Given the description of an element on the screen output the (x, y) to click on. 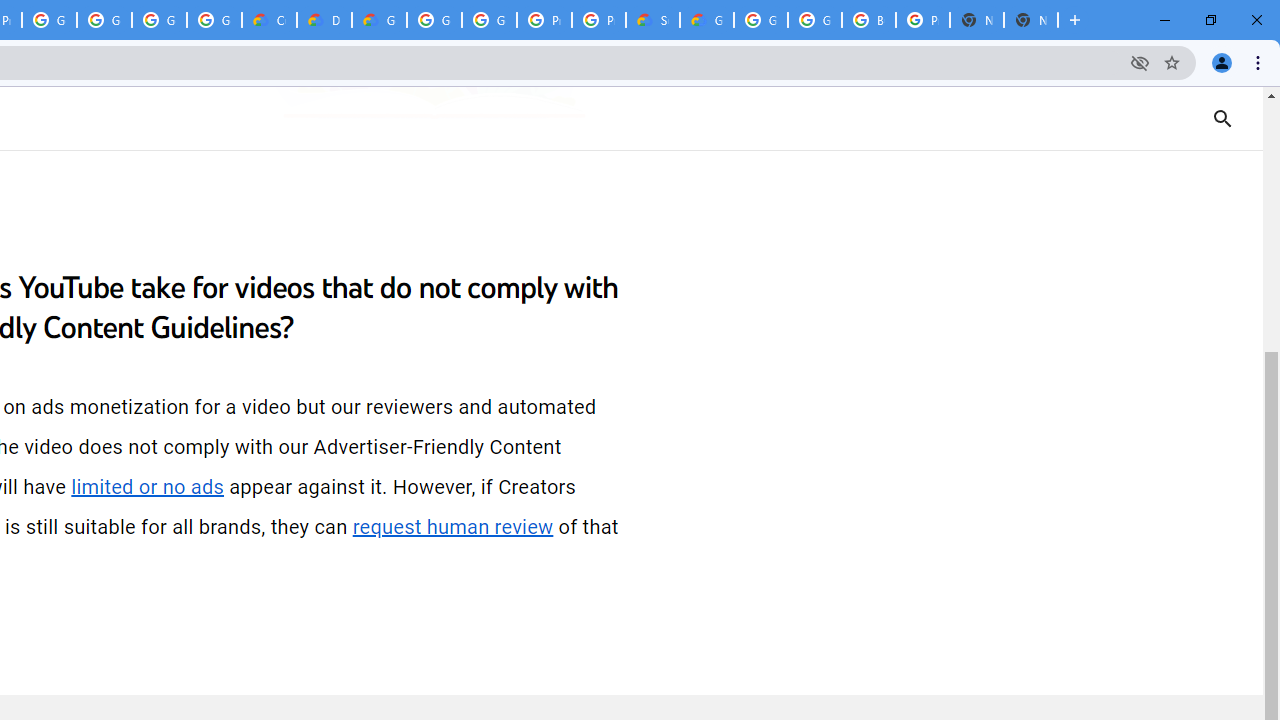
request human review (453, 527)
limited or no ads (147, 487)
Customer Care | Google Cloud (268, 20)
